Given the description of an element on the screen output the (x, y) to click on. 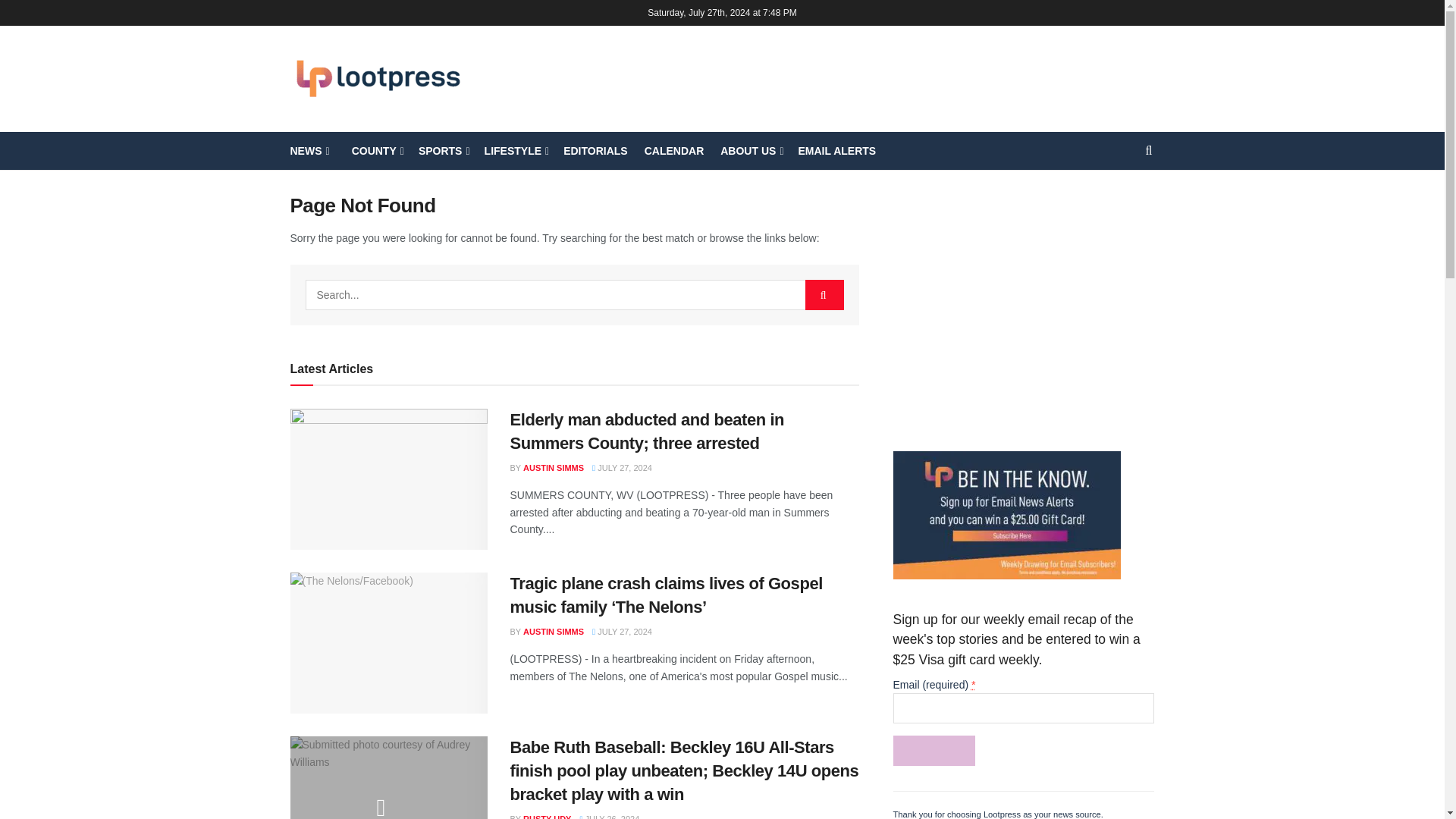
required (973, 684)
Sign up (934, 750)
COUNTY (372, 150)
NEWS (307, 150)
